Given the description of an element on the screen output the (x, y) to click on. 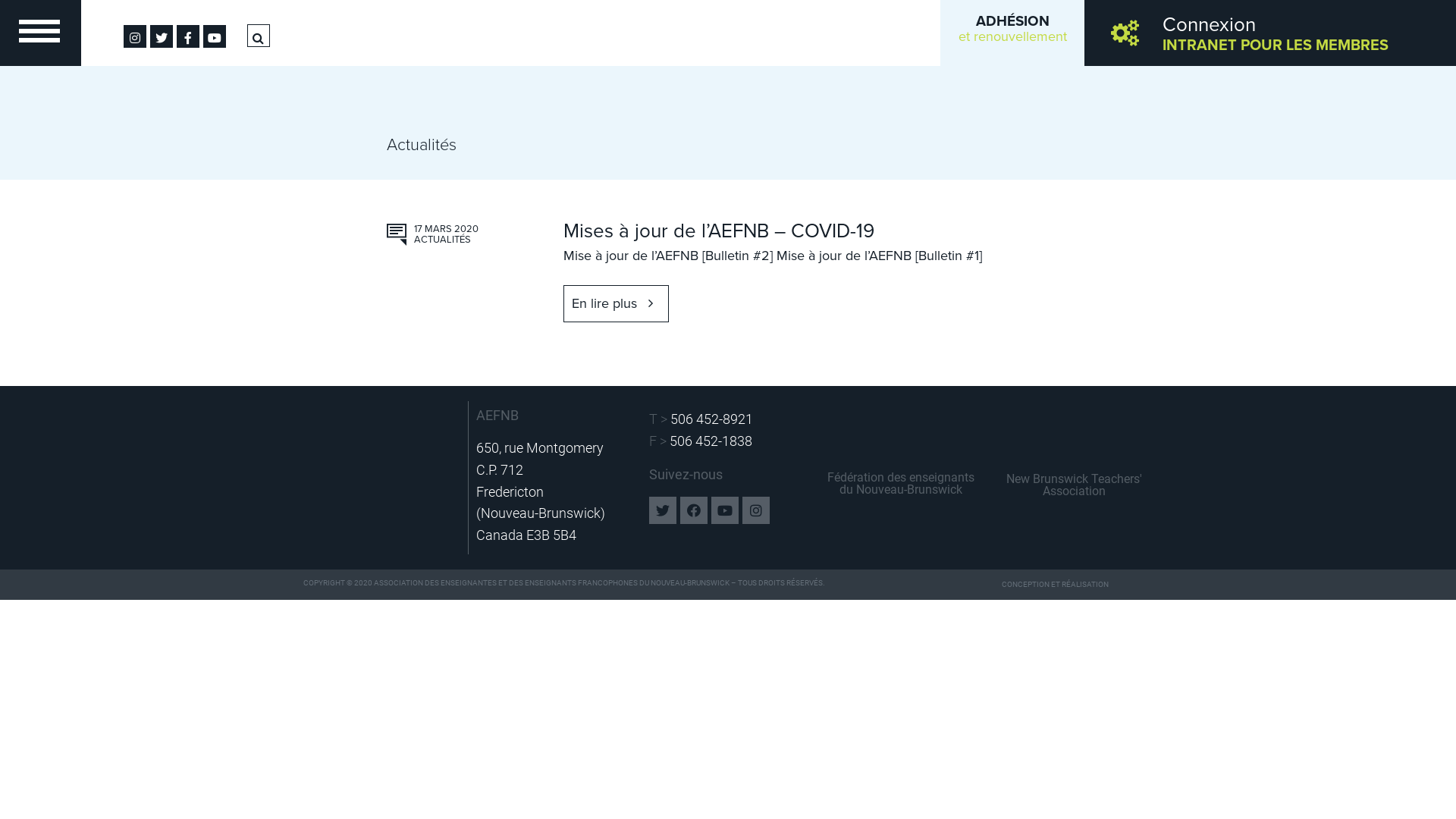
NBTA_LOGO_REVERSED ser Element type: hover (1073, 433)
En lire plus Element type: text (615, 303)
DPG Element type: hover (1135, 585)
fenb Element type: hover (900, 432)
